Given the description of an element on the screen output the (x, y) to click on. 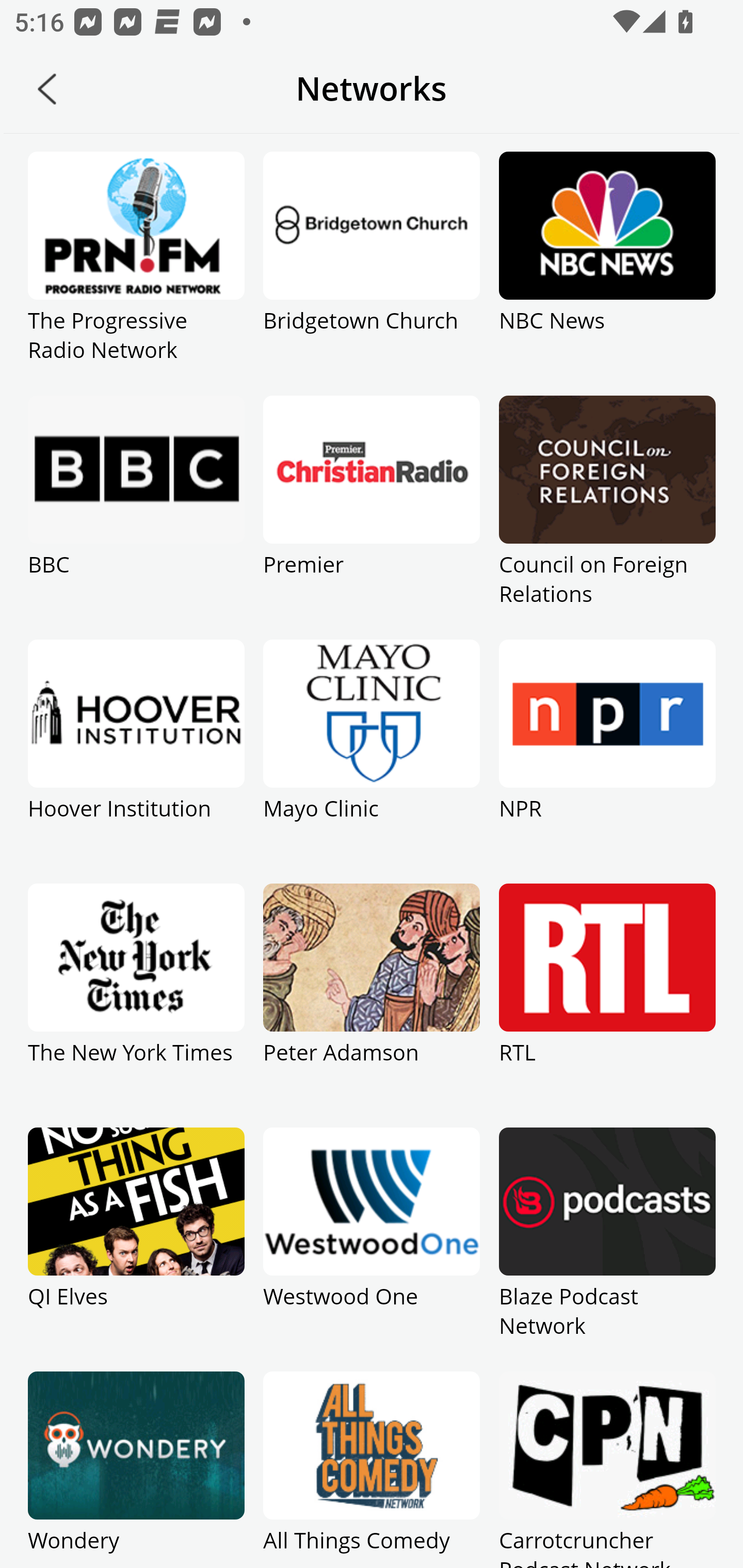
Back (46, 88)
The Progressive Radio Network (135, 273)
Bridgetown Church (371, 273)
NBC News (606, 273)
BBC (135, 517)
Premier (371, 517)
Council on Foreign Relations (606, 517)
Hoover Institution (135, 760)
Mayo Clinic (371, 760)
NPR (606, 760)
The New York Times (135, 1004)
Peter Adamson (371, 1004)
RTL (606, 1004)
QI Elves (135, 1249)
Westwood One (371, 1249)
Blaze Podcast Network (606, 1249)
Wondery (135, 1470)
All Things Comedy (371, 1470)
Carrotcruncher Podcast Network (606, 1470)
